Given the description of an element on the screen output the (x, y) to click on. 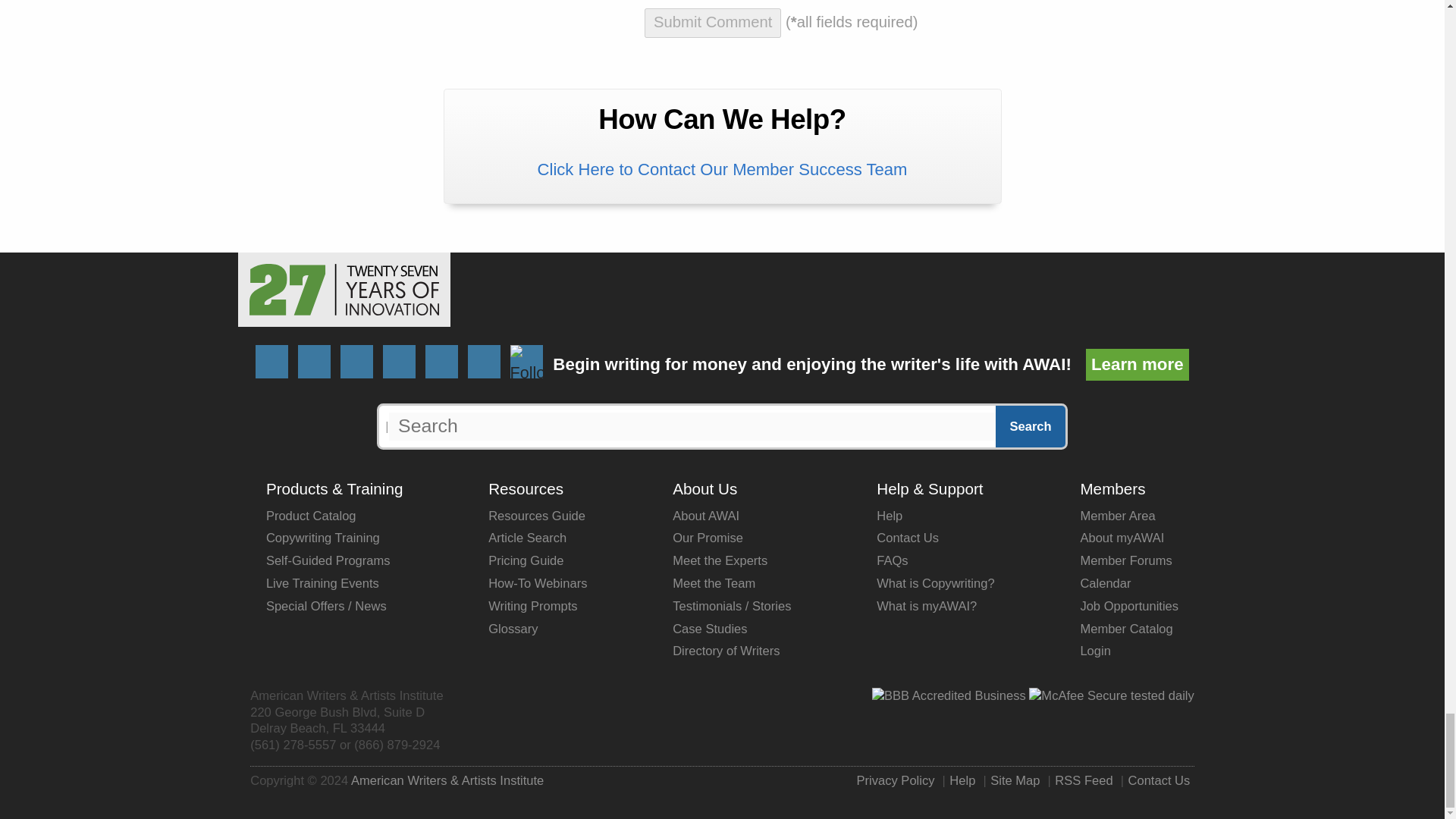
McAfee Secure Verified (1111, 695)
Better Business Bureau Accredited Business (949, 695)
Better Business Bureau Accredited Business (949, 695)
McAfee Secure Verified (1111, 695)
